Given the description of an element on the screen output the (x, y) to click on. 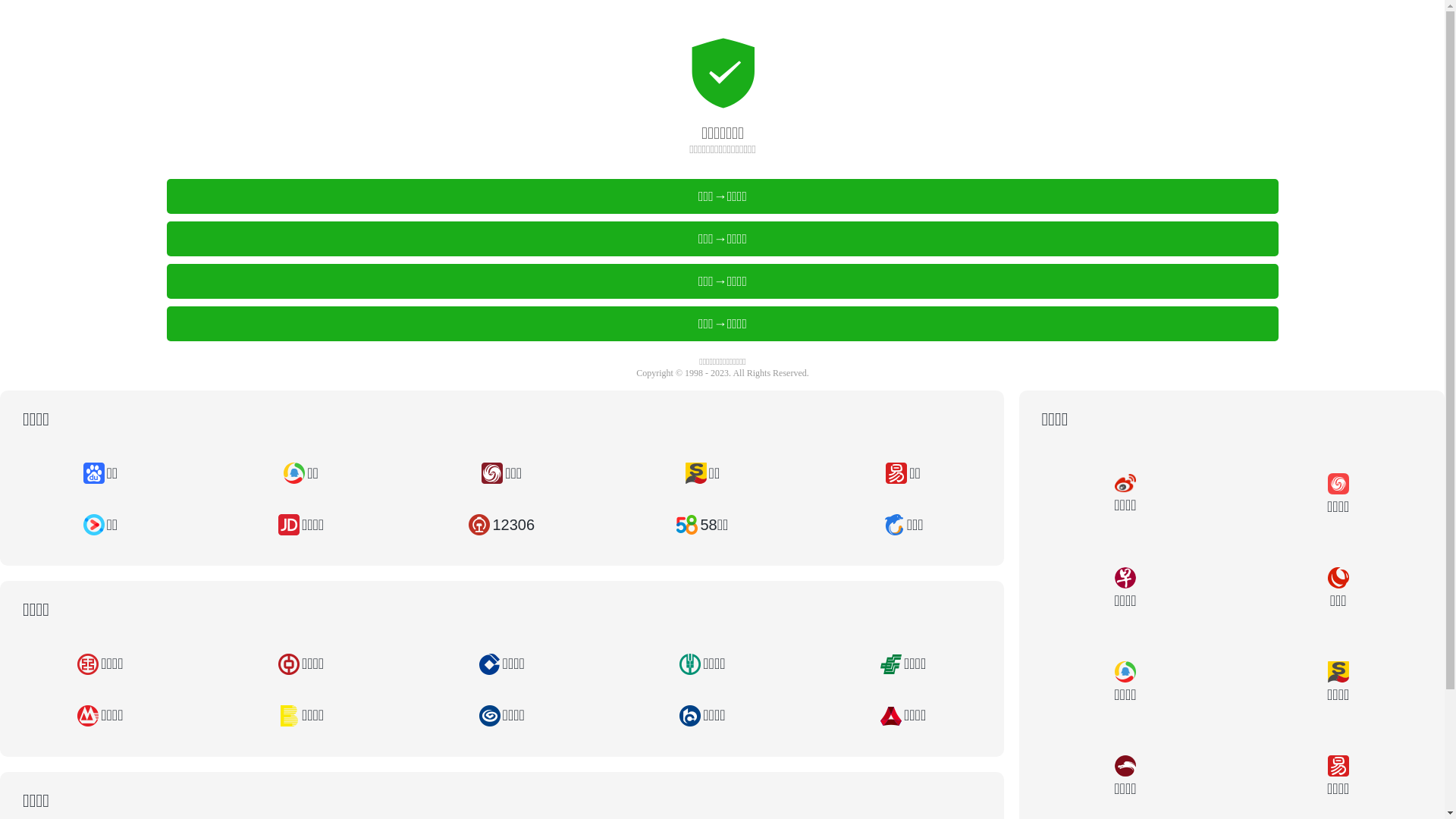
12306 Element type: text (501, 524)
